Given the description of an element on the screen output the (x, y) to click on. 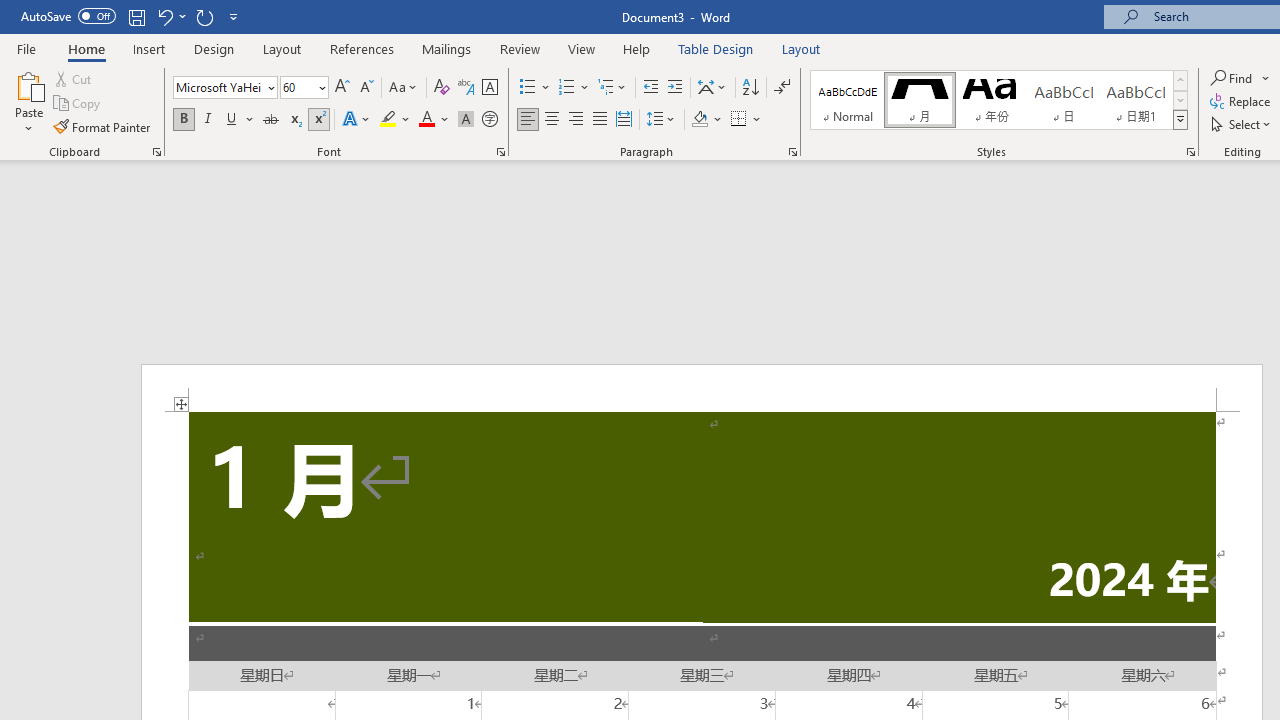
Justify (599, 119)
Character Border (489, 87)
Font Color (434, 119)
Paste (28, 102)
Character Shading (465, 119)
Change Case (404, 87)
Format Painter (103, 126)
Show/Hide Editing Marks (781, 87)
Asian Layout (712, 87)
Shading (706, 119)
Paste (28, 84)
Mailings (447, 48)
Font (218, 87)
Replace... (1242, 101)
